Given the description of an element on the screen output the (x, y) to click on. 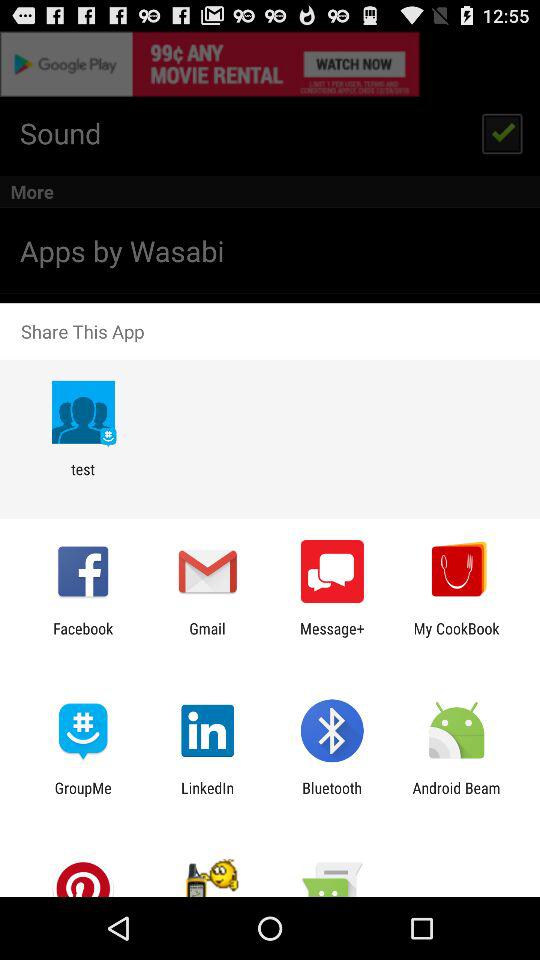
choose app to the right of facebook app (207, 637)
